Given the description of an element on the screen output the (x, y) to click on. 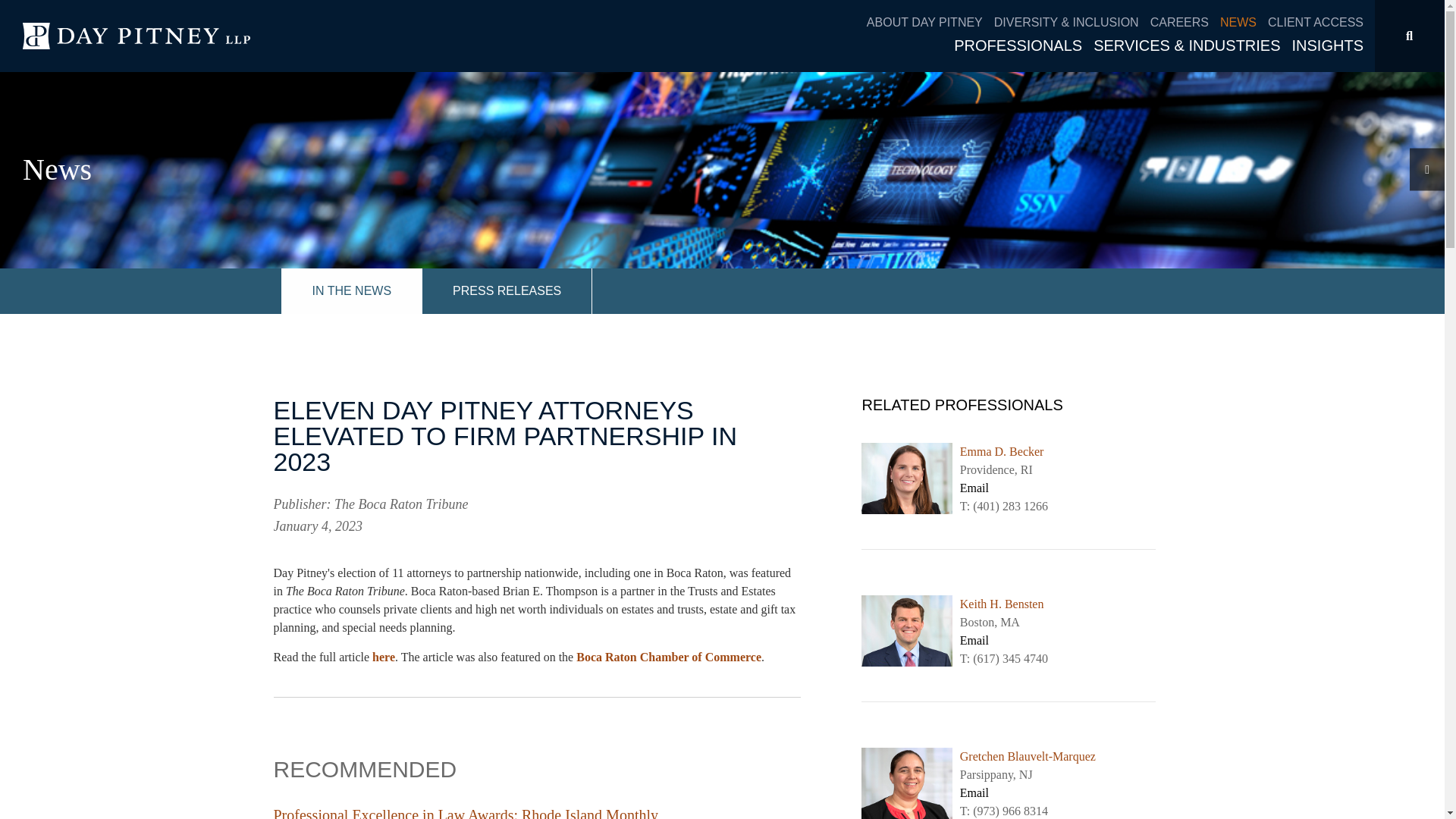
IN THE NEWS (351, 290)
ABOUT DAY PITNEY (930, 22)
NEWS (1244, 22)
CAREERS (1185, 22)
PROFESSIONALS (1023, 45)
INSIGHTS (1327, 45)
PRESS RELEASES (507, 290)
CLIENT ACCESS (1315, 22)
